Given the description of an element on the screen output the (x, y) to click on. 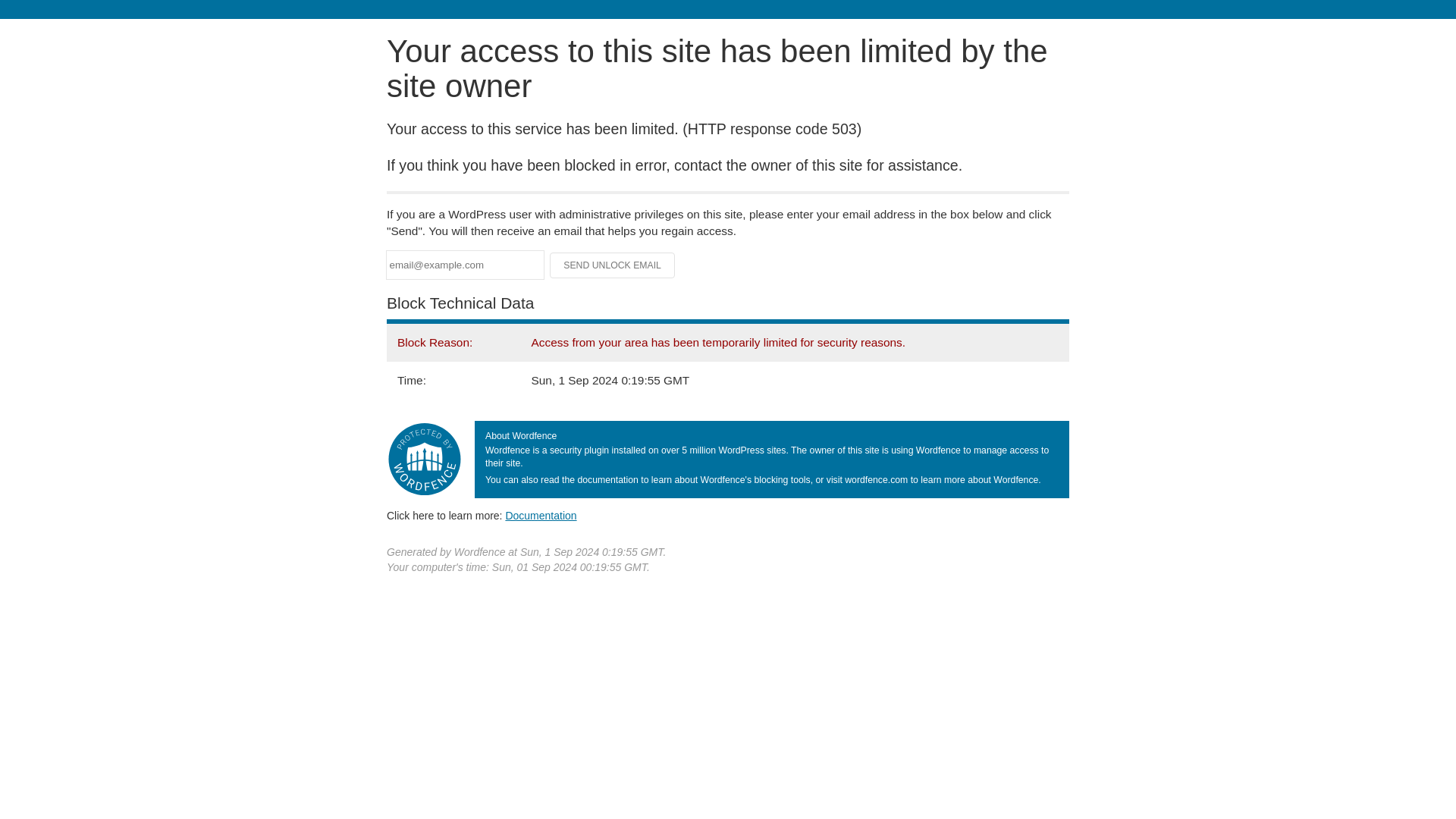
Send Unlock Email (612, 265)
Send Unlock Email (612, 265)
Documentation (540, 515)
